Given the description of an element on the screen output the (x, y) to click on. 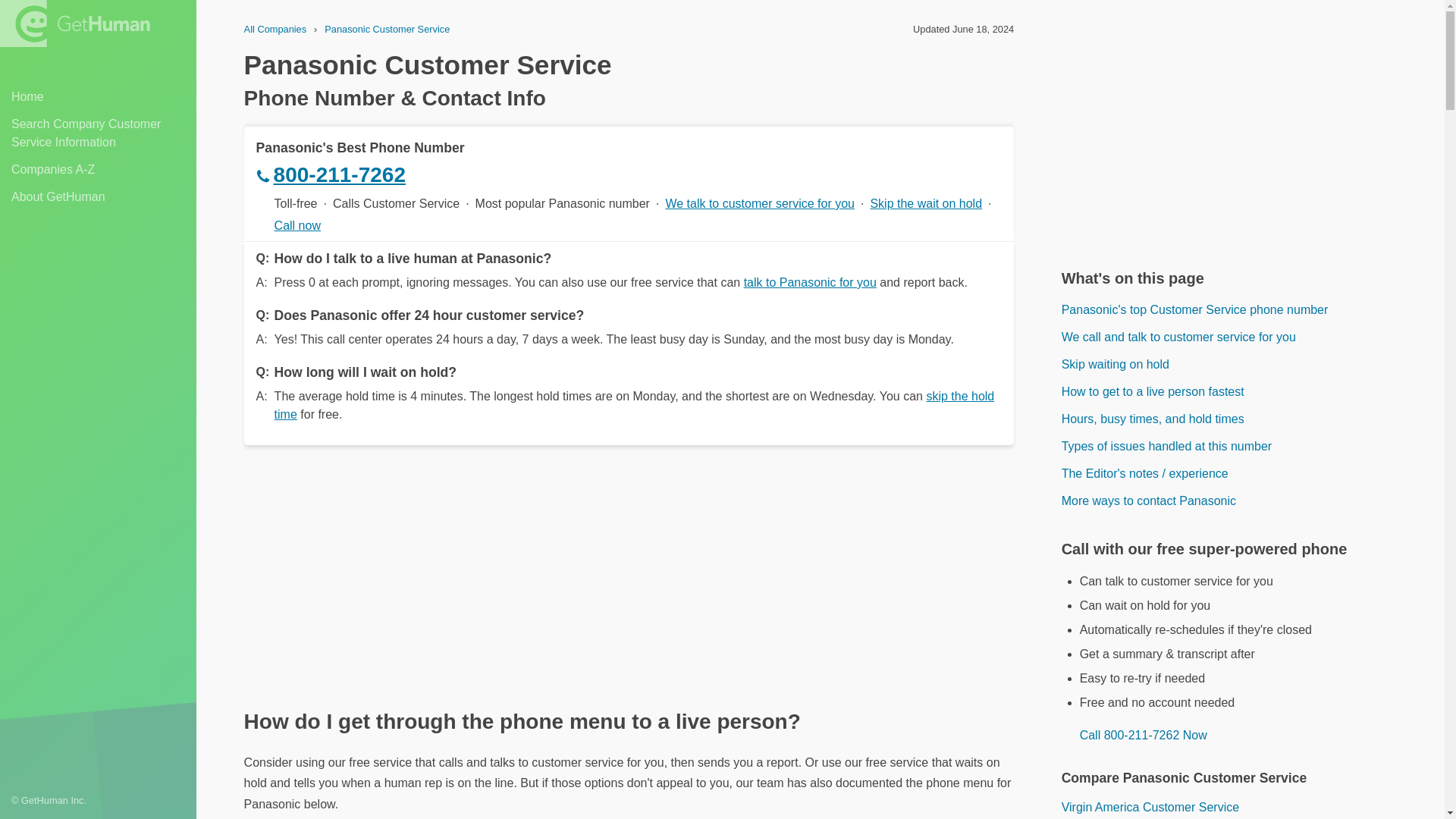
Skip the wait on hold (925, 203)
800-211-7262 (629, 175)
Home (97, 96)
About GetHuman (97, 197)
Call Panasonic Customer Service phone number 800-211-7262 (1134, 735)
Panasonic Customer Service (386, 29)
Call now (297, 225)
skip the hold time (634, 404)
GetHuman (74, 23)
